Given the description of an element on the screen output the (x, y) to click on. 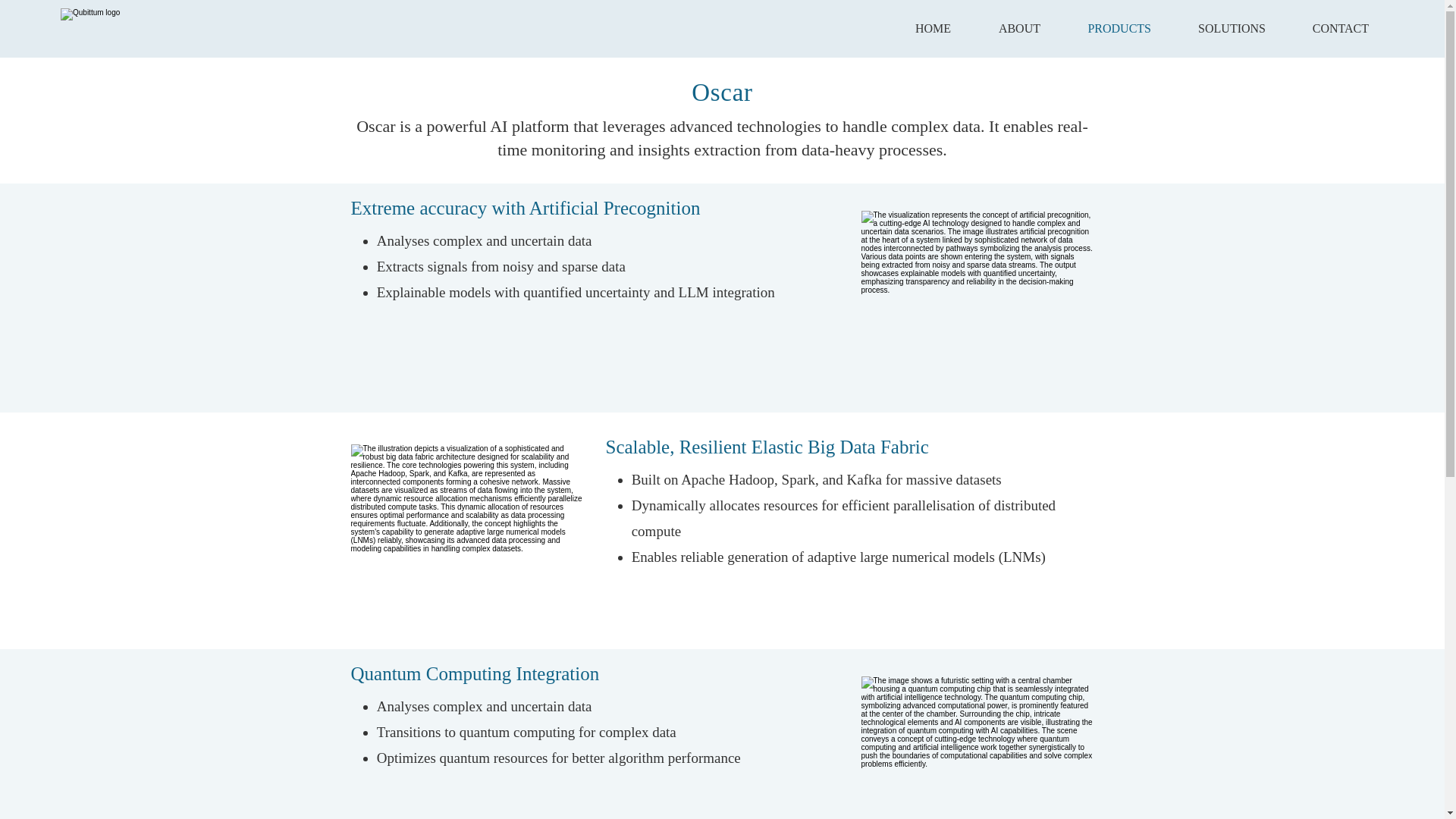
HOME (920, 28)
SOLUTIONS (1218, 28)
CONTACT (1328, 28)
PRODUCTS (1106, 28)
ABOUT (1006, 28)
